Given the description of an element on the screen output the (x, y) to click on. 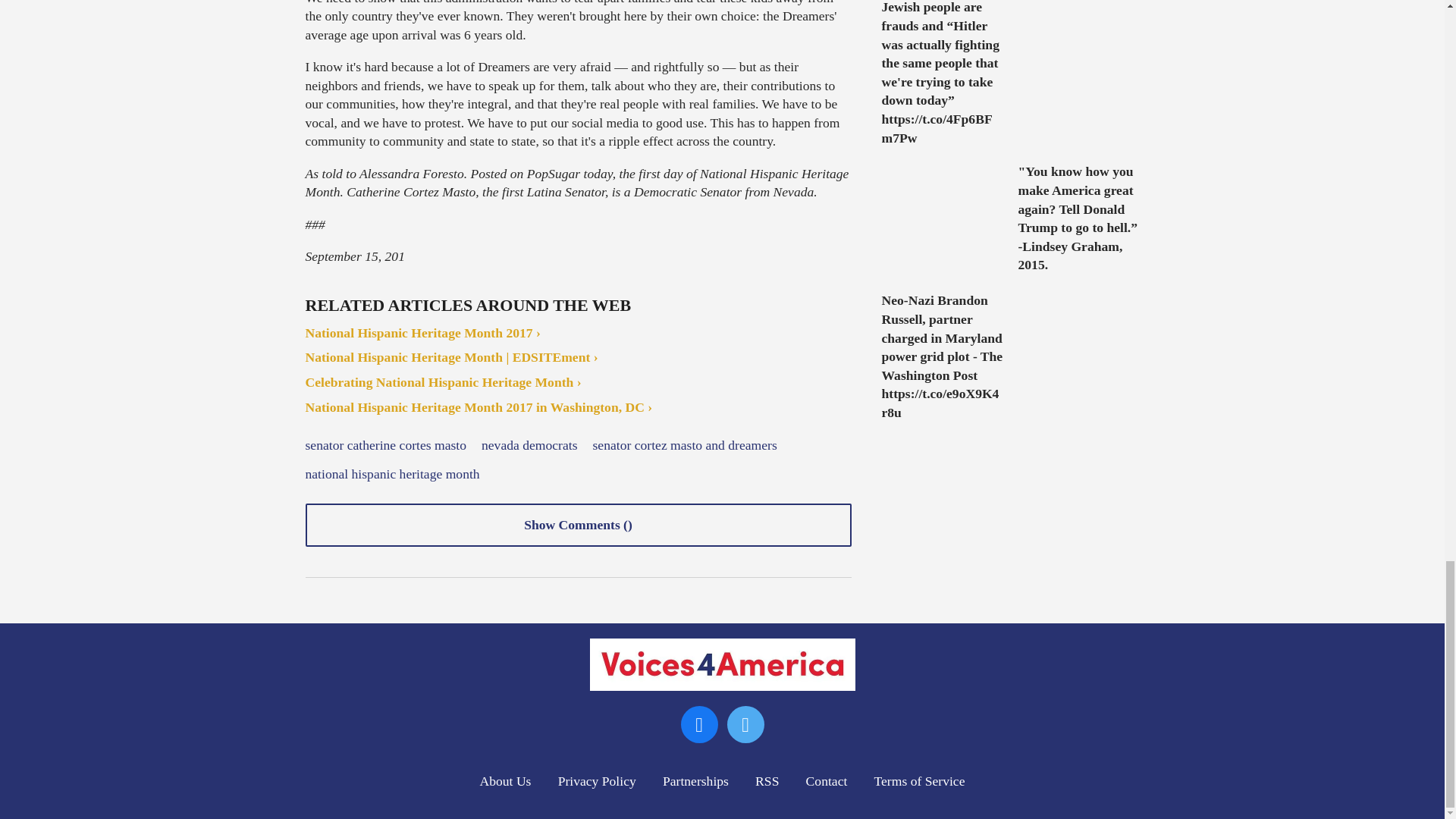
voices 4 america (721, 664)
senator cortez masto and dreamers (684, 445)
national hispanic heritage month (391, 474)
senator catherine cortes masto (384, 445)
nevada democrats (529, 445)
